Given the description of an element on the screen output the (x, y) to click on. 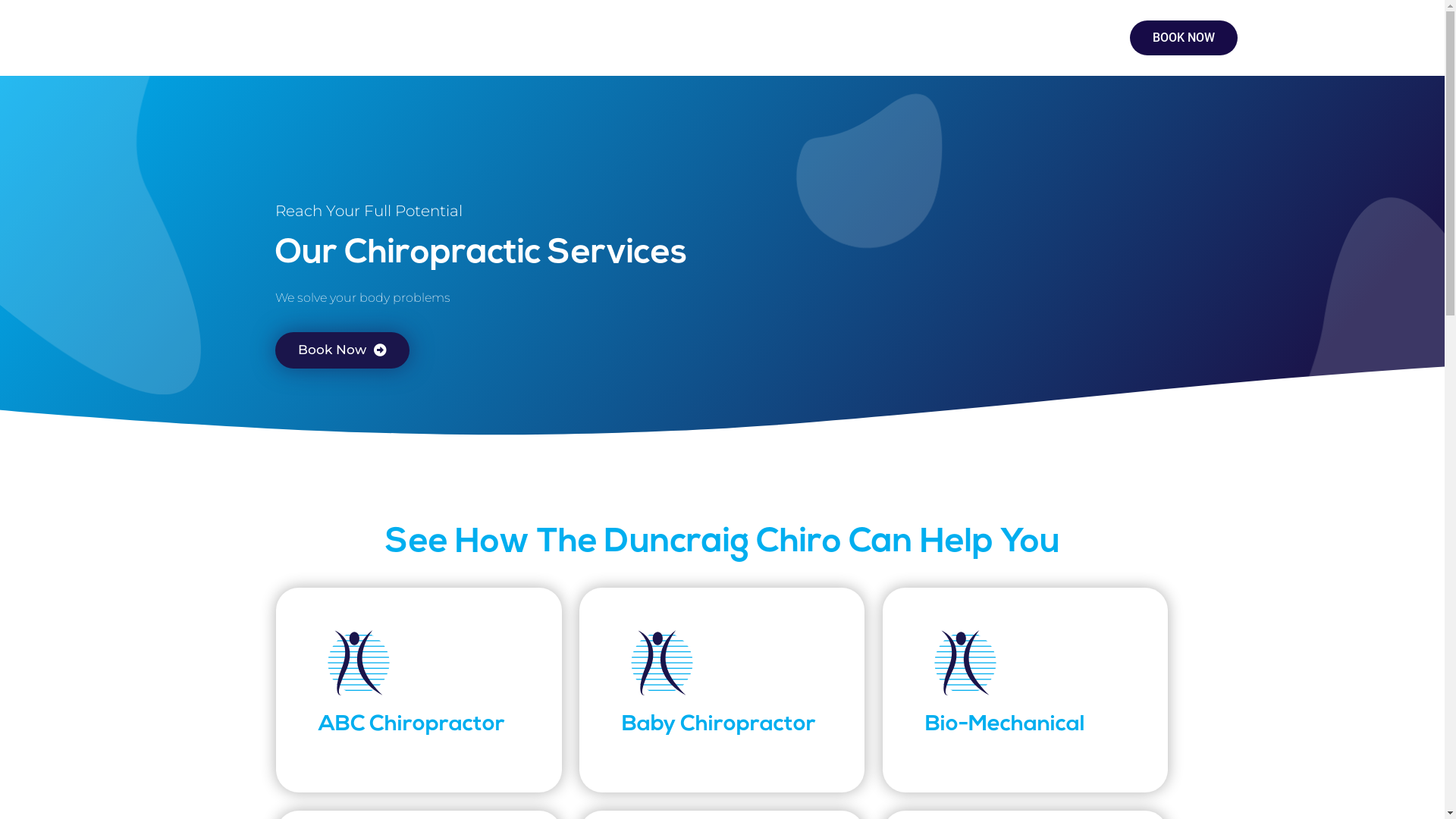
ABC Chiropractor Element type: text (411, 724)
9246 9558 Element type: text (1008, 32)
Book Now Element type: text (341, 350)
BOOK NOW Element type: text (1183, 37)
Bio-Mechanical Element type: text (1005, 724)
PRODUCTS Element type: text (605, 37)
Baby Chiropractor Element type: text (718, 724)
WHAT TO EXPECT Element type: text (495, 37)
ABOUT Element type: text (304, 37)
CONTACT Element type: text (797, 37)
SERVICES Element type: text (388, 37)
HOME Element type: text (229, 37)
RESOURCES Element type: text (703, 37)
